Given the description of an element on the screen output the (x, y) to click on. 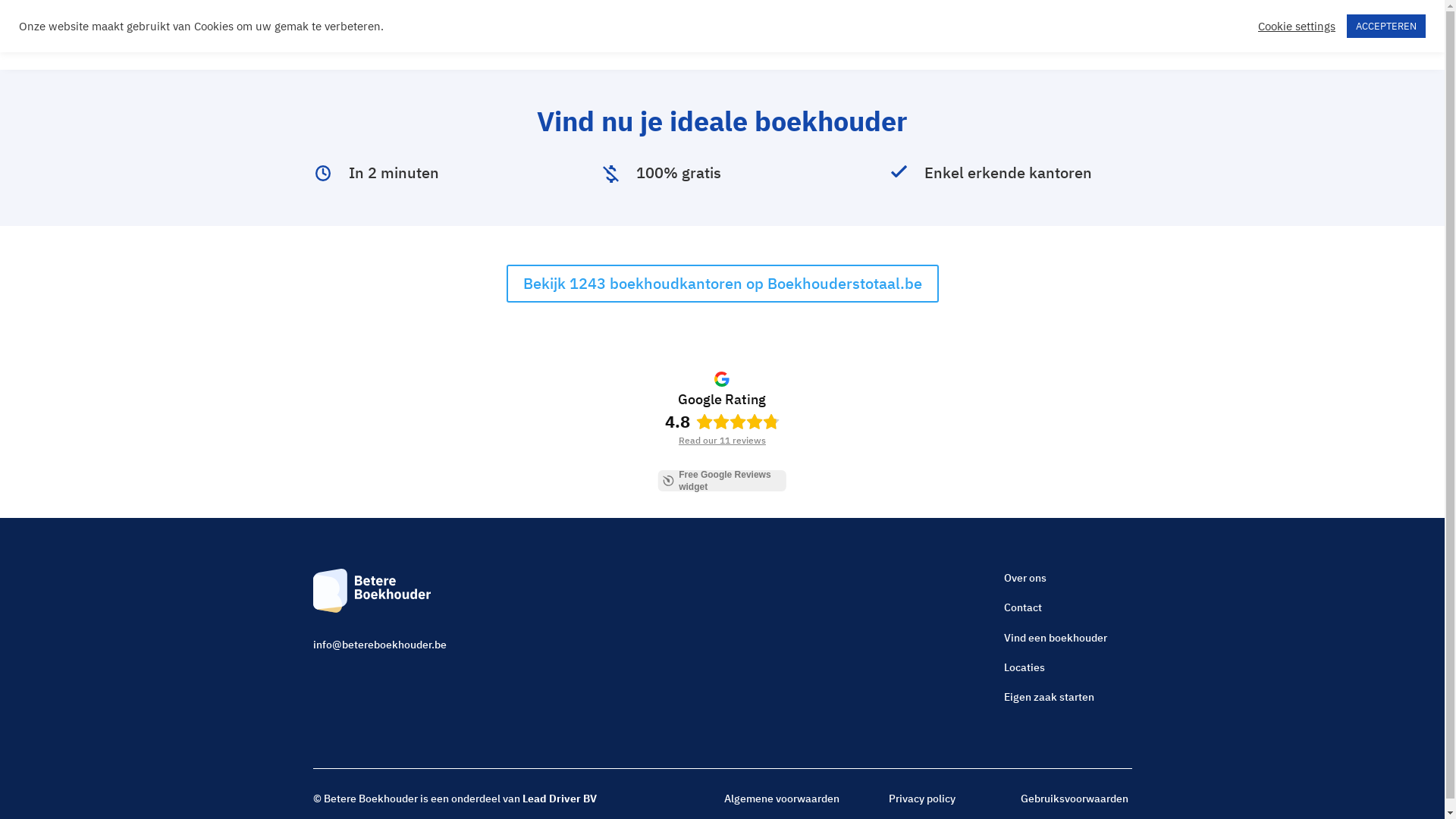
Blog Element type: text (605, 38)
ACCEPTEREN Element type: text (1385, 25)
Vind een boekhouder Element type: text (1055, 637)
info@betereboekhouder.be Element type: text (378, 644)
Logo-White-Desktop-1 Element type: hover (371, 590)
Contact Element type: text (1022, 607)
Lead Driver BV Element type: text (558, 798)
Bekijk 1243 boekhoudkantoren op Boekhouderstotaal.be Element type: text (722, 283)
Over ons Element type: text (763, 38)
Locaties Element type: text (1024, 667)
Gebruiksvoorwaarden Element type: text (1074, 798)
Logo-desktop-1 Element type: hover (357, 34)
Privacy policy Element type: text (921, 798)
Free Google Reviews widget Element type: text (721, 480)
Contact Element type: text (821, 38)
Cookie settings Element type: text (1296, 26)
Algemene voorwaarden Element type: text (781, 798)
Eigen zaak starten Element type: text (678, 38)
Over ons Element type: text (1025, 577)
Eigen zaak starten Element type: text (1049, 696)
